Given the description of an element on the screen output the (x, y) to click on. 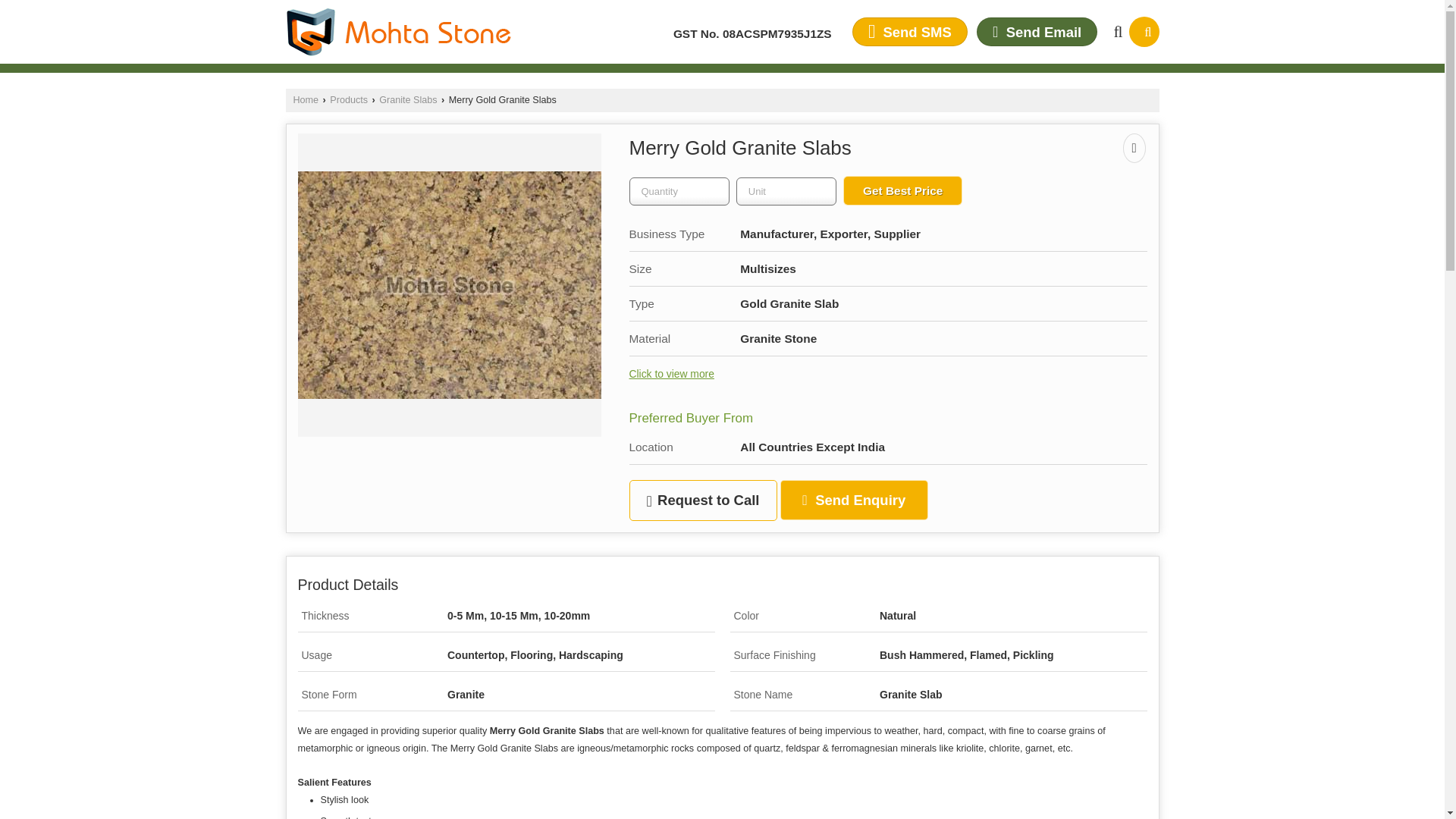
Search (1143, 31)
Send Email (1036, 31)
Send SMS (909, 31)
Mohta Stone (398, 31)
